Given the description of an element on the screen output the (x, y) to click on. 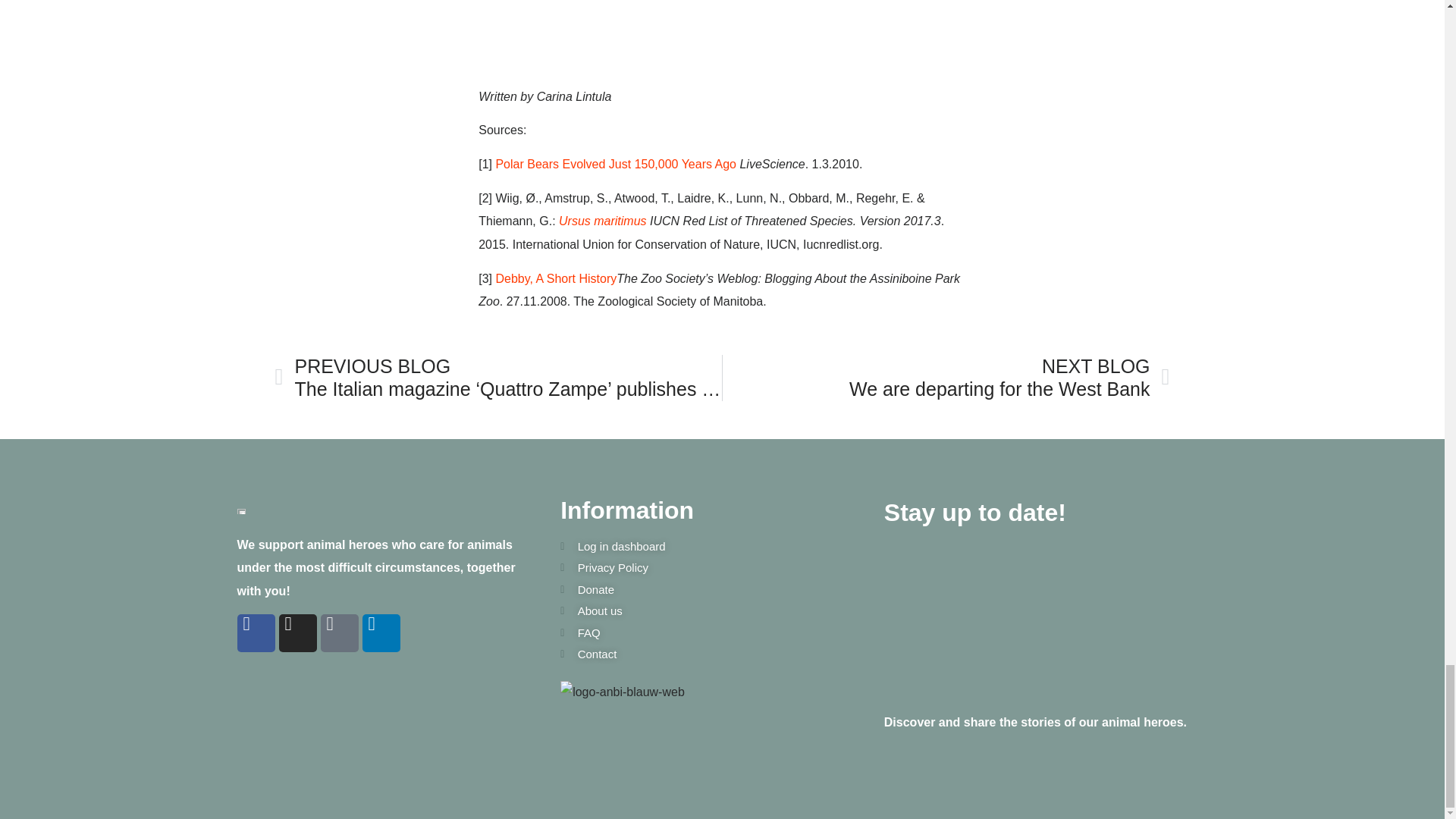
logo-anbi-blauw-web (622, 691)
